Given the description of an element on the screen output the (x, y) to click on. 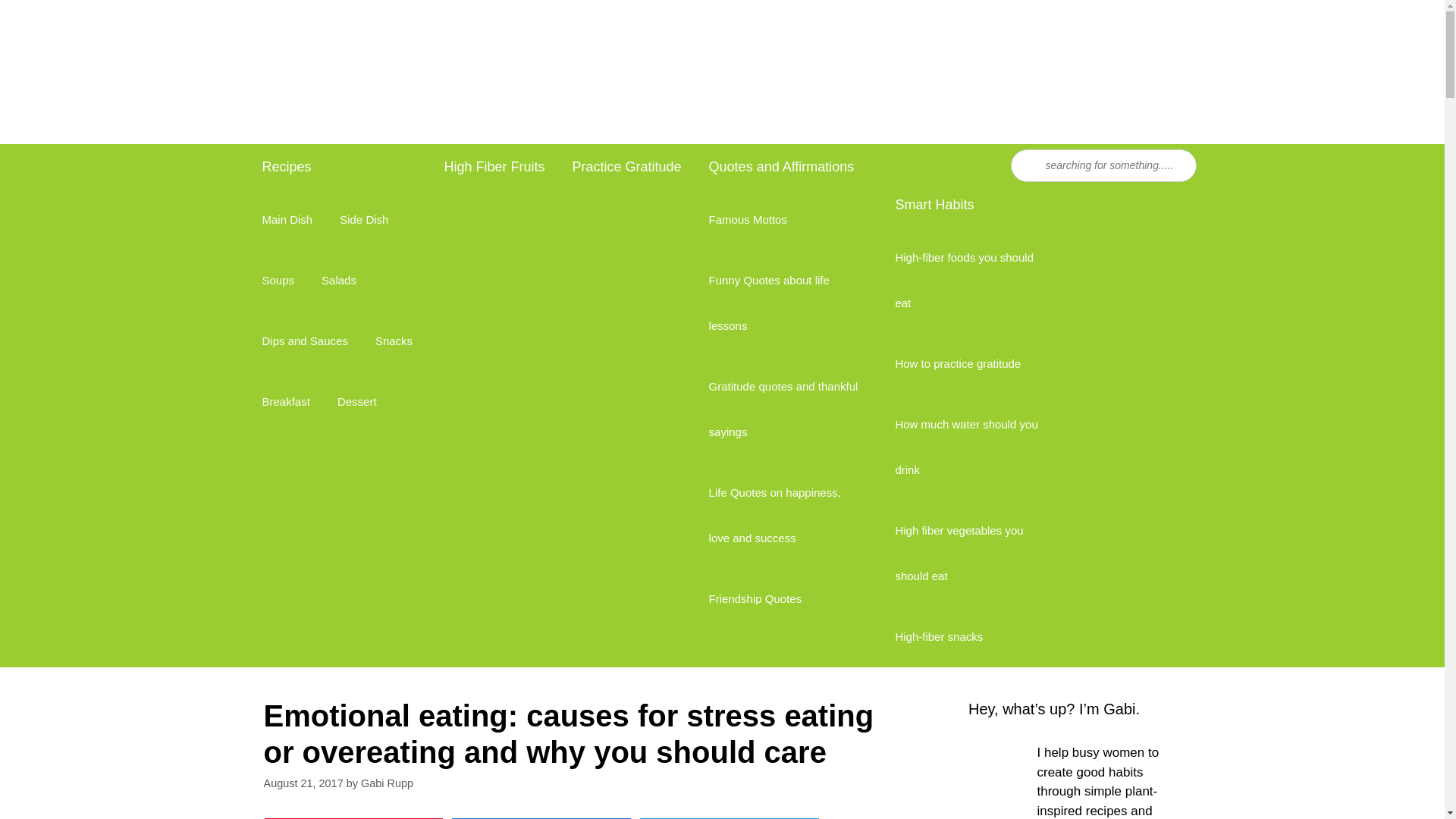
View all posts by Gabi Rupp (387, 783)
Funny Quotes about life lessons (786, 303)
Salads (338, 280)
High-fiber snacks (937, 636)
Breakfast (285, 401)
High fiber vegetables you should eat (971, 553)
Smart Habits (971, 204)
Main Dish (287, 219)
